Given the description of an element on the screen output the (x, y) to click on. 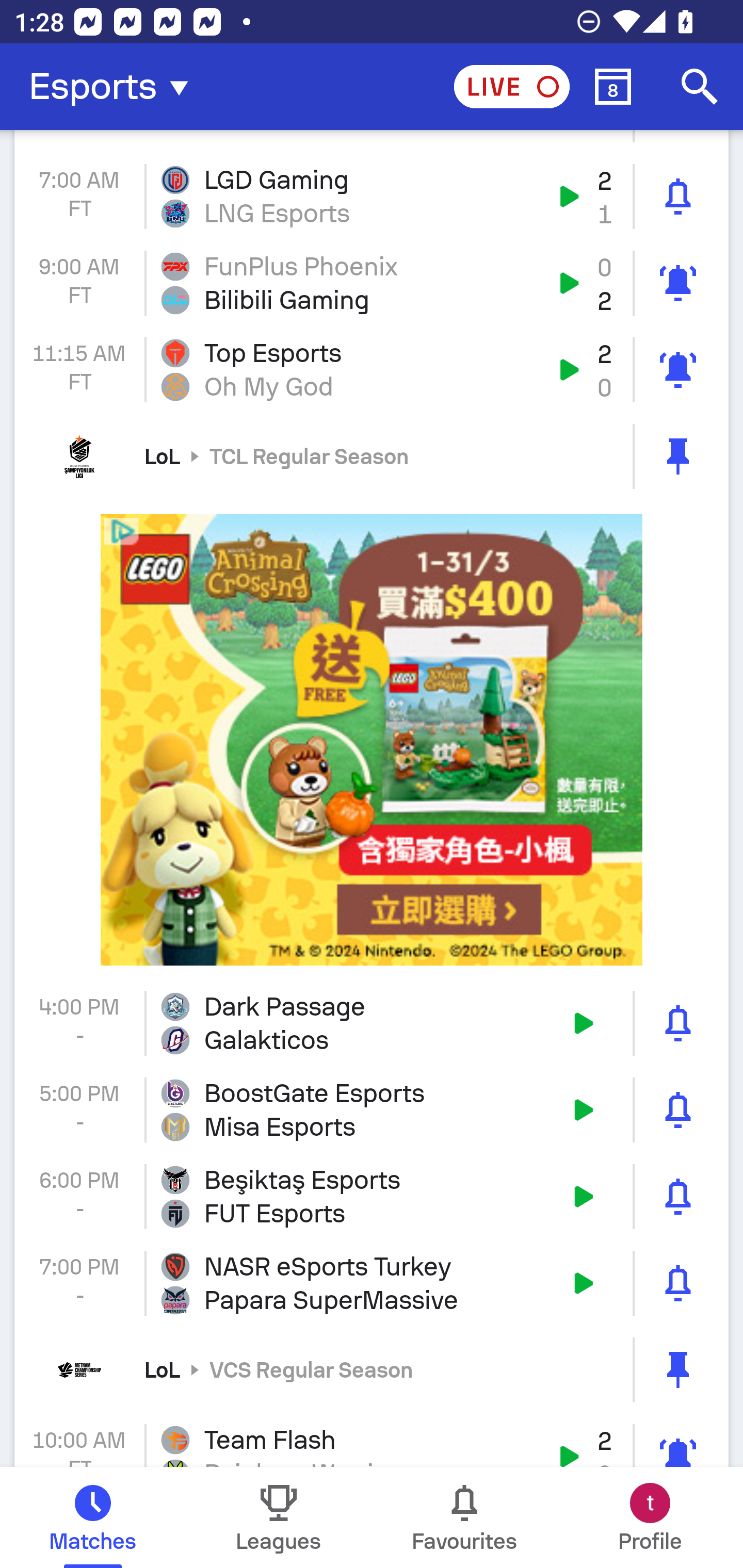
Esports (114, 86)
Calendar (612, 86)
Search (699, 86)
7:00 AM FT LGD Gaming LNG Esports 2 1 (371, 196)
9:00 AM FT FunPlus Phoenix Bilibili Gaming 0 2 (371, 282)
11:15 AM FT Top Esports Oh My God 2 0 (371, 369)
LoL TCL Regular Season (371, 456)
j1n8f1jr_300x250 (371, 739)
4:00 PM - Dark Passage Galakticos (371, 1023)
5:00 PM - BoostGate Esports Misa Esports (371, 1110)
6:00 PM - Beşiktaş Esports FUT Esports (371, 1197)
7:00 PM - NASR eSports Turkey Papara SuperMassive (371, 1283)
LoL VCS Regular Season (371, 1369)
Leagues (278, 1517)
Favourites (464, 1517)
Profile (650, 1517)
